Given the description of an element on the screen output the (x, y) to click on. 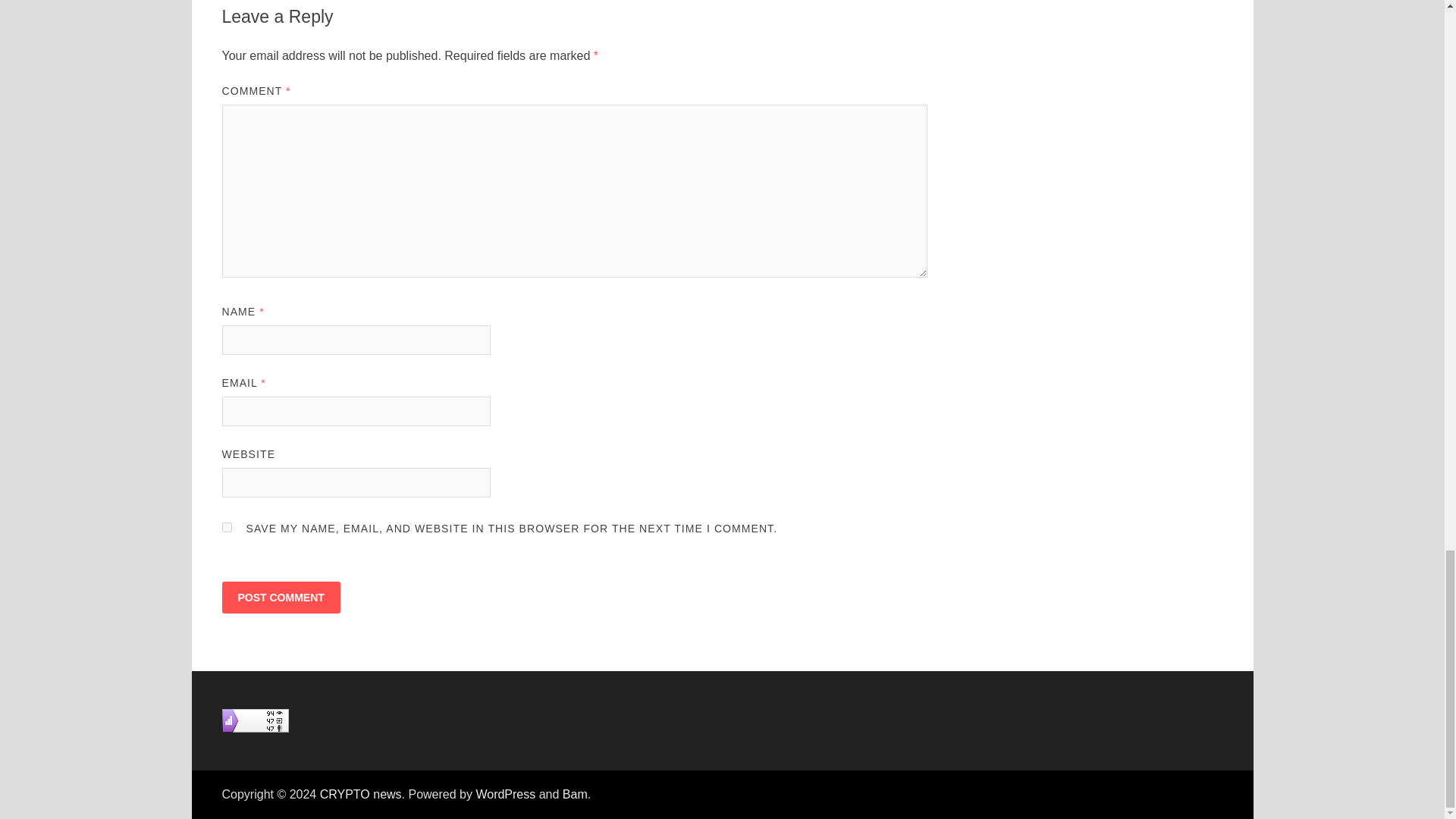
CRYPTO news (360, 793)
yes (226, 527)
Post Comment (280, 597)
